Given the description of an element on the screen output the (x, y) to click on. 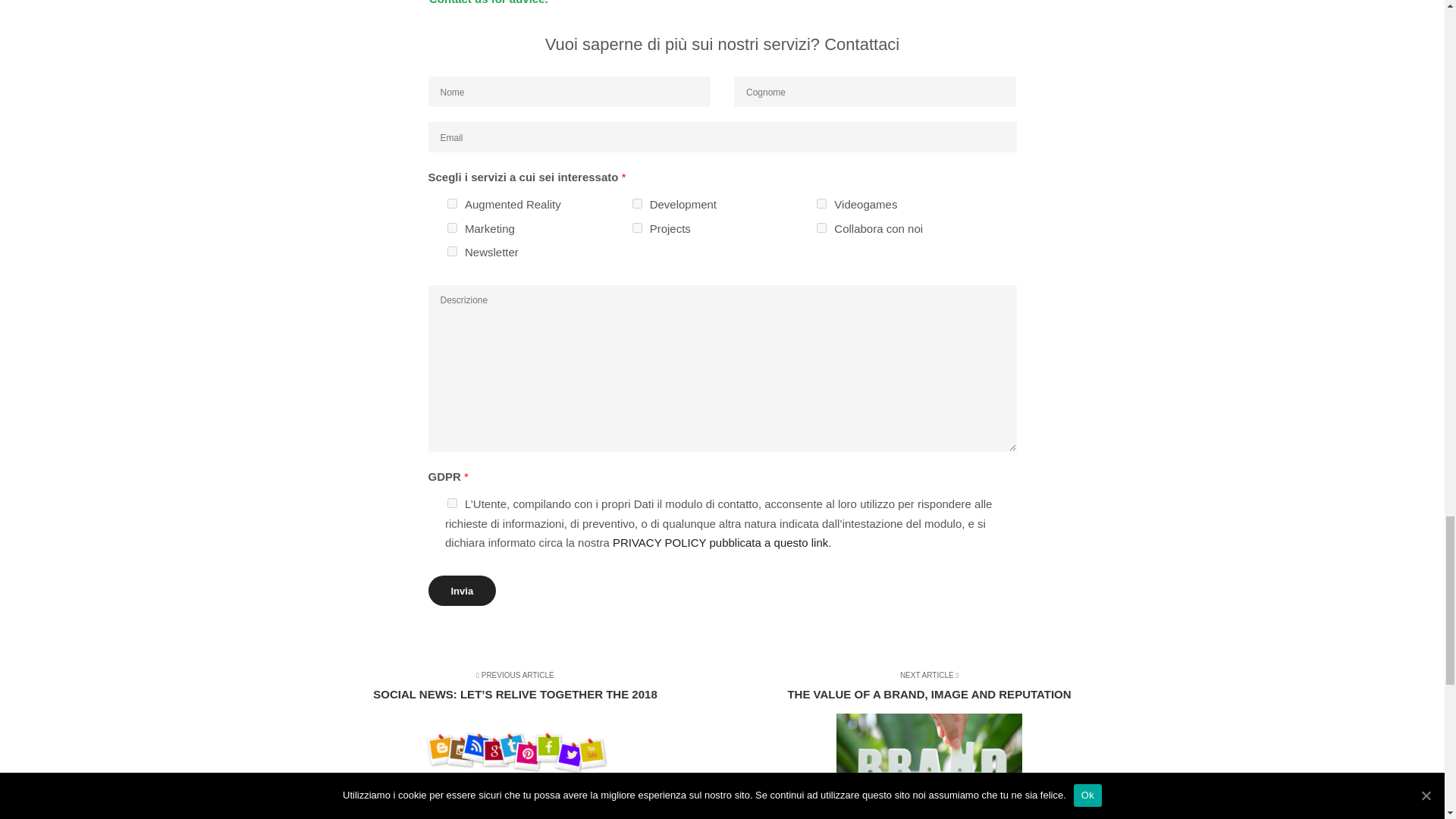
Invia (919, 731)
Augmented Reality (462, 590)
Projects (451, 203)
Newsletter (636, 227)
Development (451, 251)
PRIVACY POLICY pubblicata a questo link (636, 203)
Collabora con noi (720, 542)
Videogames (821, 227)
Marketing  (821, 203)
